Given the description of an element on the screen output the (x, y) to click on. 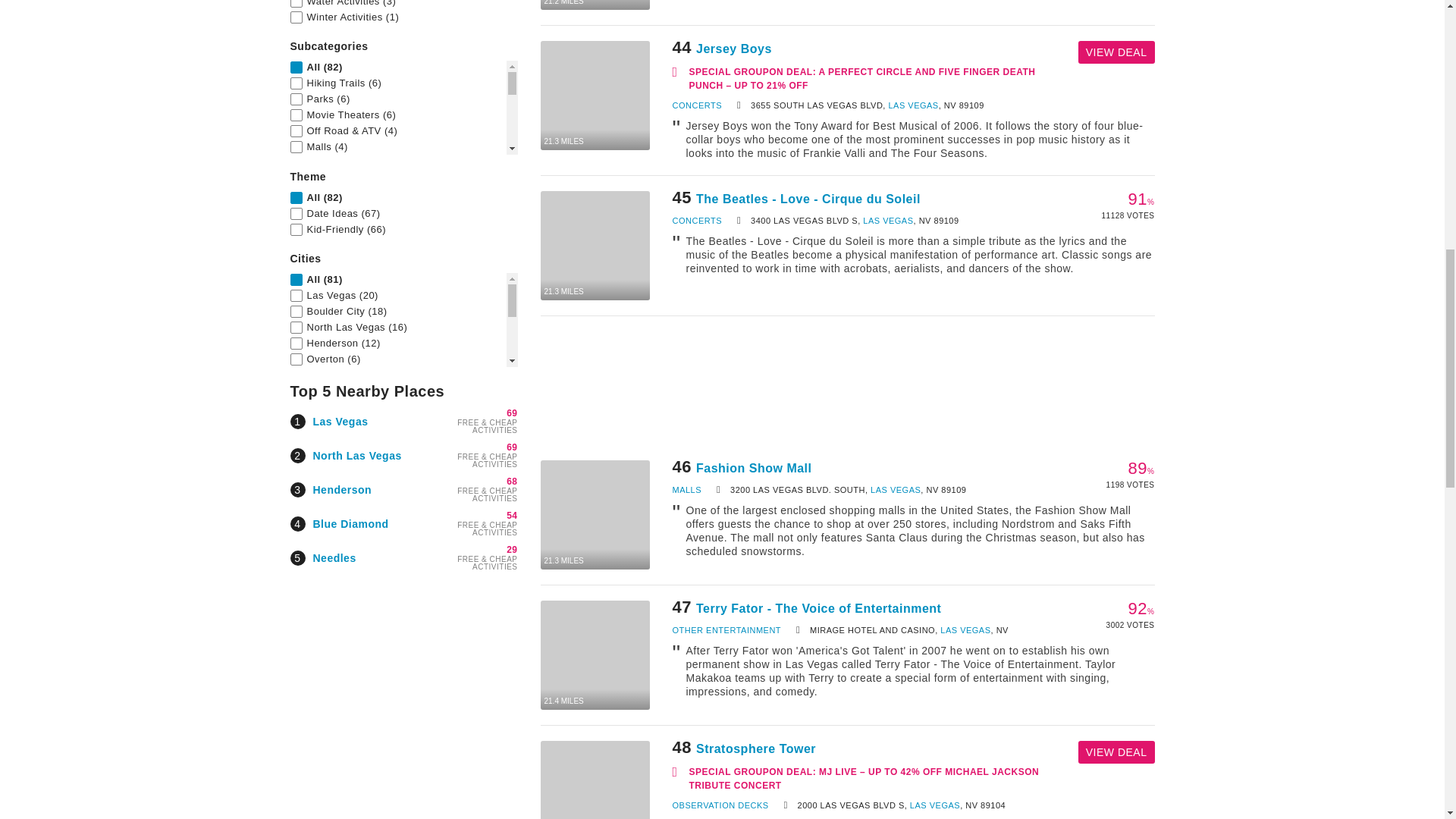
North Las Vegas (357, 454)
68 (511, 480)
Las Vegas (340, 421)
29 (511, 549)
69 (511, 412)
Blue Diamond (350, 522)
54 (511, 515)
Henderson (342, 490)
69 (511, 447)
Needles (334, 558)
